Given the description of an element on the screen output the (x, y) to click on. 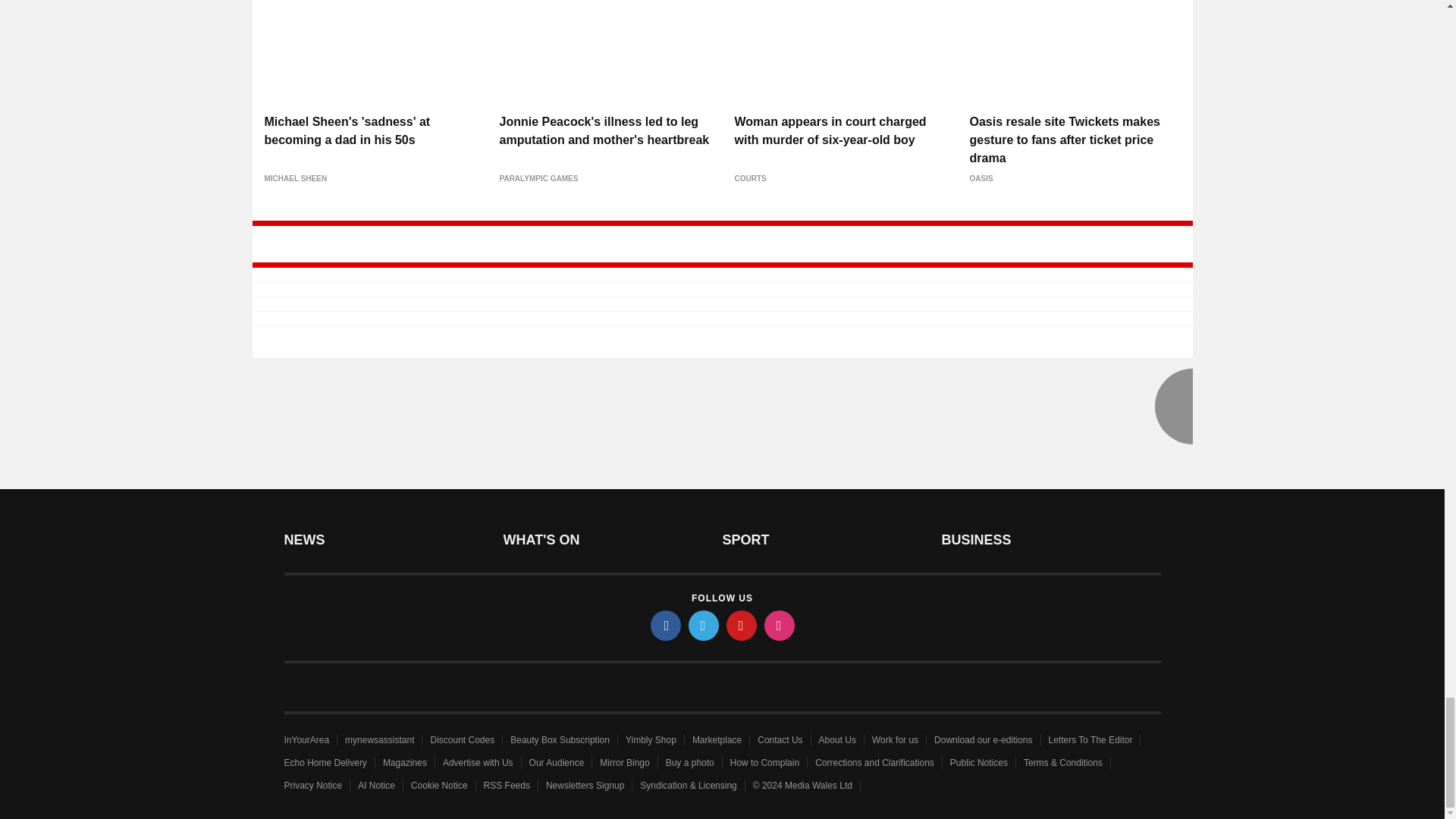
instagram (779, 625)
pinterest (741, 625)
facebook (665, 625)
twitter (703, 625)
